Given the description of an element on the screen output the (x, y) to click on. 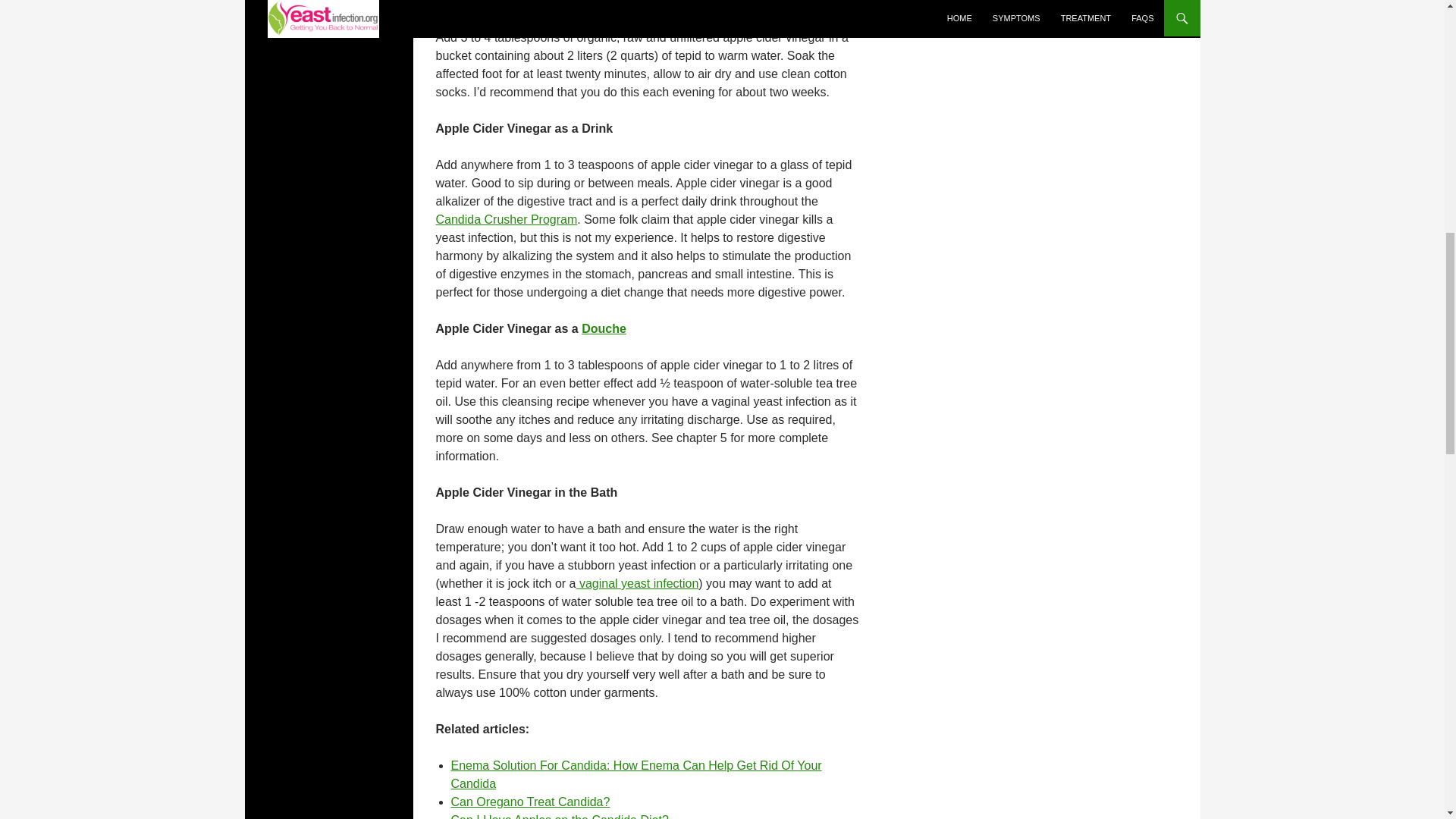
vaginal yeast infection (636, 583)
The Yogurt Douche (603, 328)
An Introduction to the Candida Crusher Program (505, 219)
Vaginal Yeast Infections (636, 583)
Candida Crusher Program (505, 219)
Douche (603, 328)
Can Oregano Treat Candida? (529, 801)
Can I Have Apples on the Candida Diet? (558, 816)
